Given the description of an element on the screen output the (x, y) to click on. 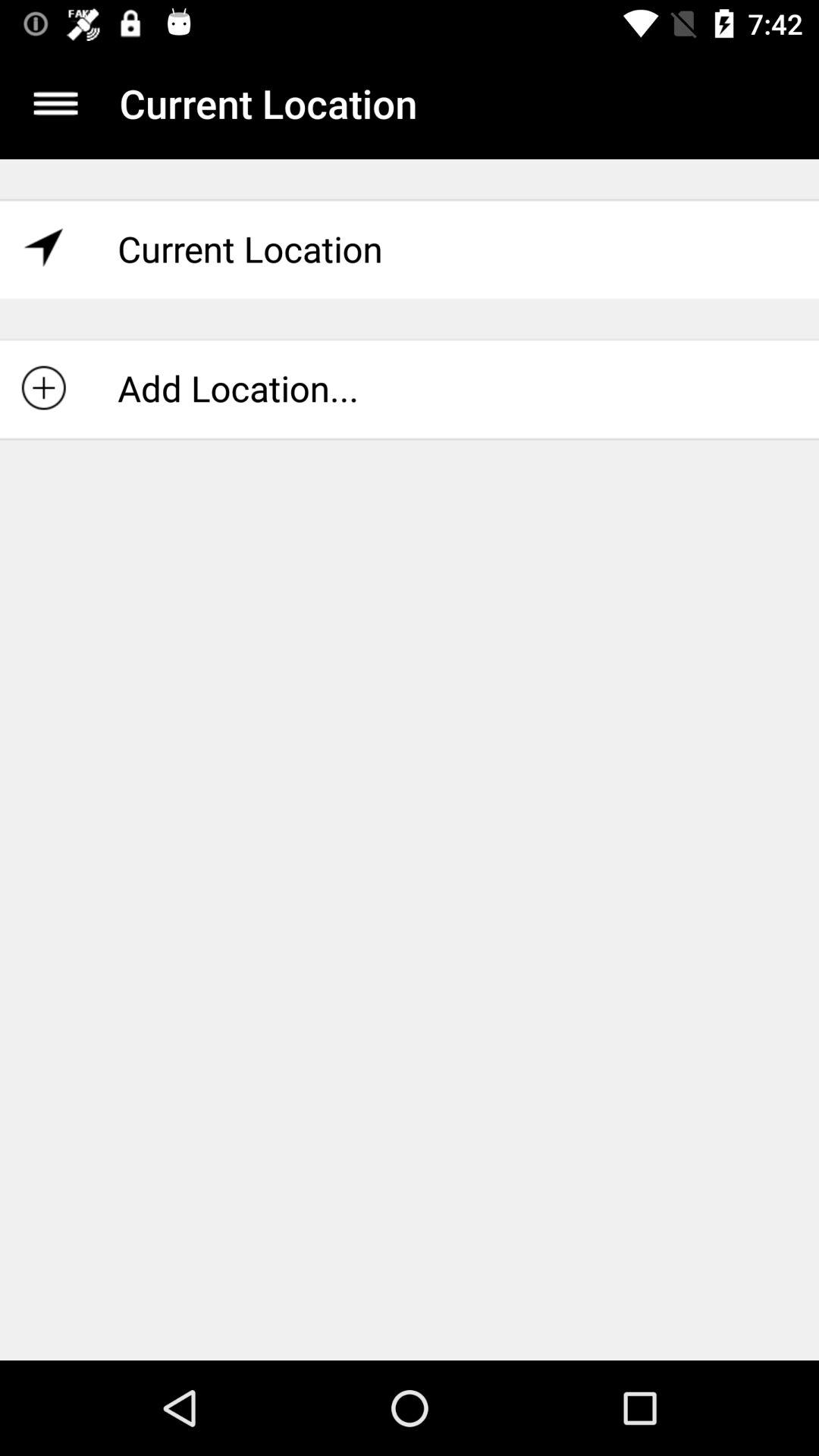
launch icon below the current location item (409, 387)
